Given the description of an element on the screen output the (x, y) to click on. 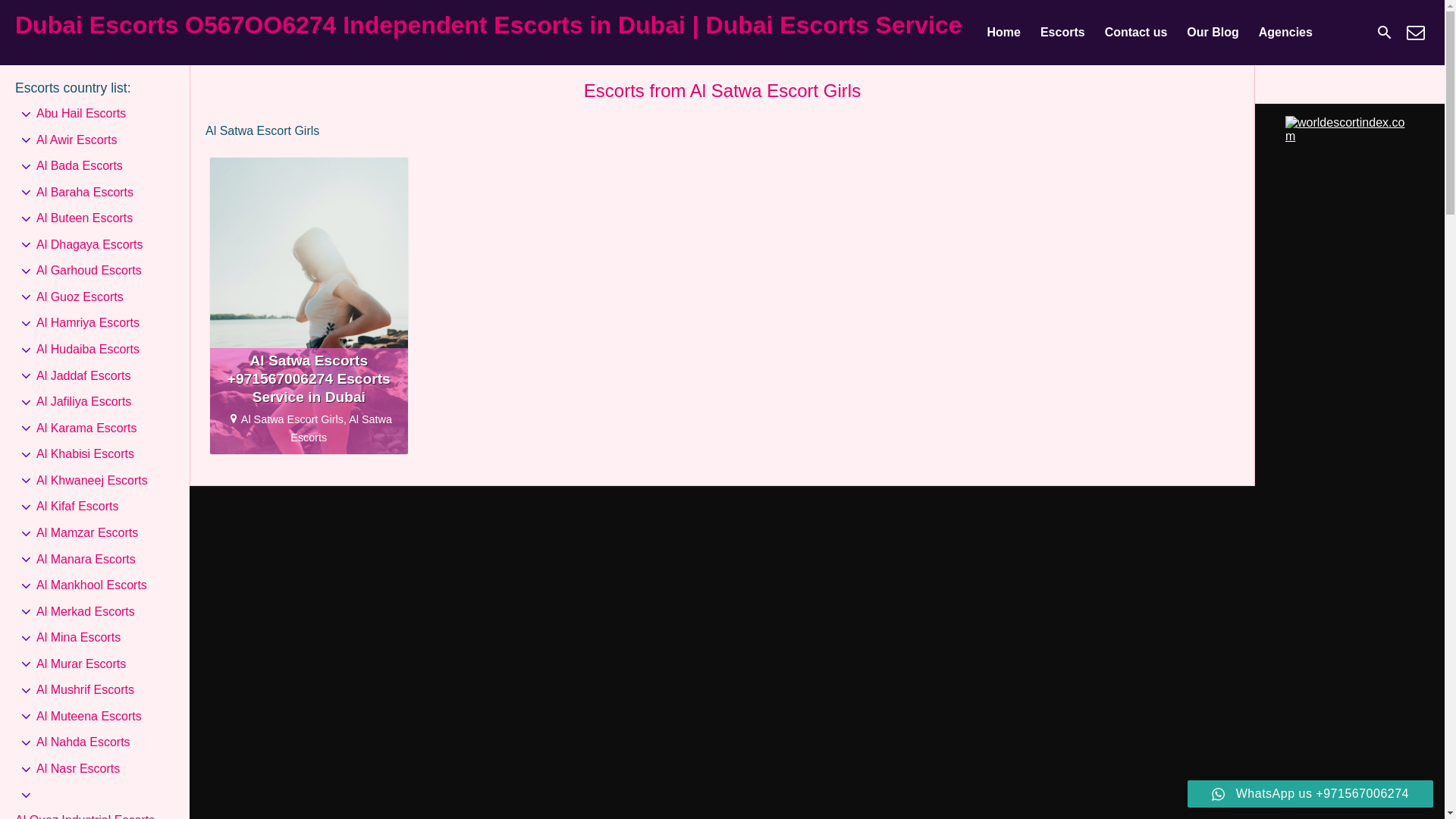
Al Hudaiba Escorts (87, 349)
Al Garhoud Escorts (88, 270)
Our Blog (1211, 33)
Al Guoz Escorts (79, 297)
Contact us (1135, 33)
Al Baraha Escorts (84, 192)
Home (1002, 33)
Al Dhagaya Escorts (89, 244)
Al Khabisi Escorts (84, 453)
Al Buteen Escorts (84, 217)
Al Hamriya Escorts (87, 322)
Contact Us (1415, 31)
Al Jaddaf Escorts (83, 376)
Escorts (1062, 33)
Al Jafiliya Escorts (83, 401)
